Given the description of an element on the screen output the (x, y) to click on. 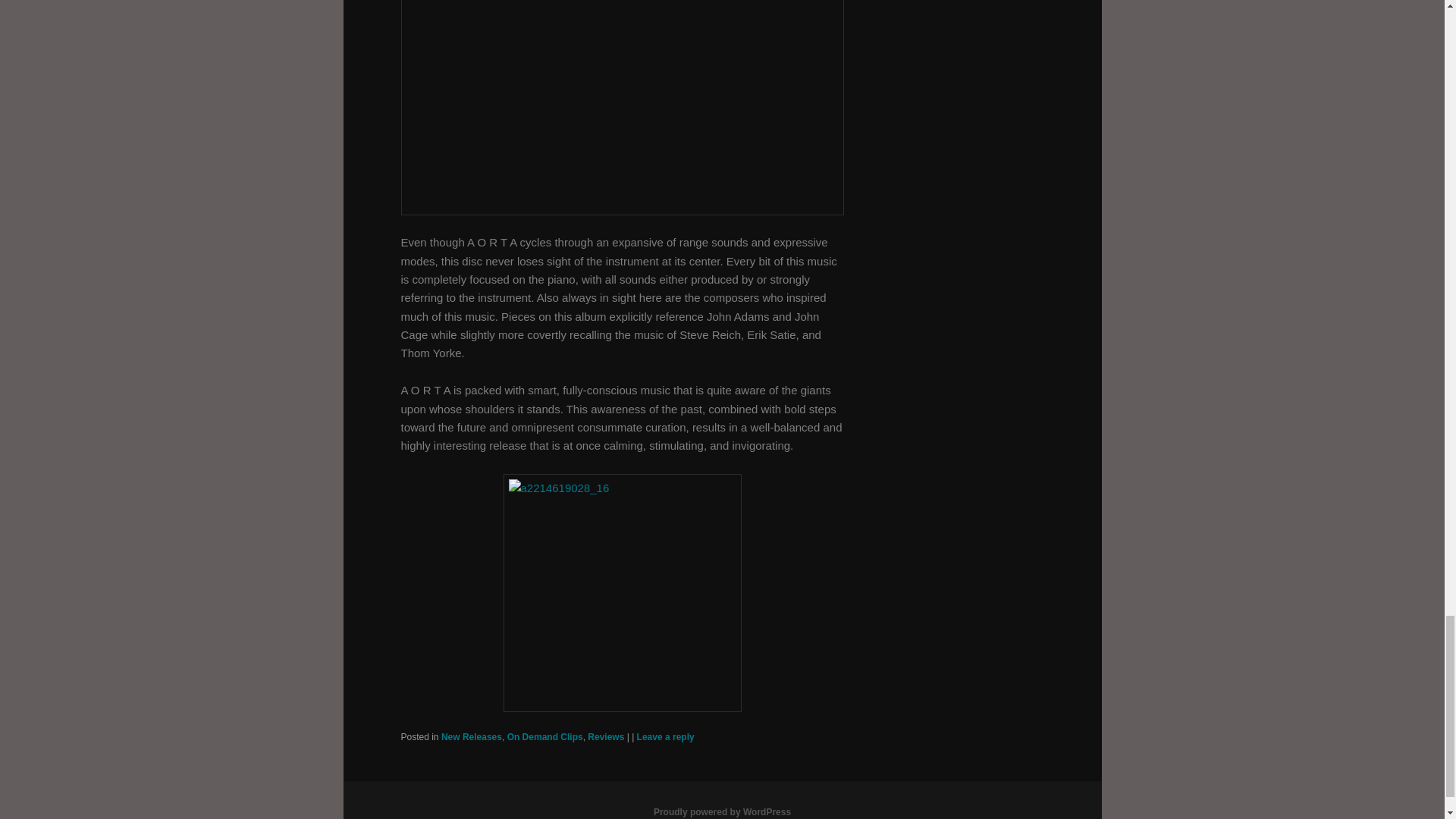
New Releases (471, 737)
Reviews (606, 737)
Semantic Personal Publishing Platform (721, 811)
On Demand Clips (544, 737)
